Given the description of an element on the screen output the (x, y) to click on. 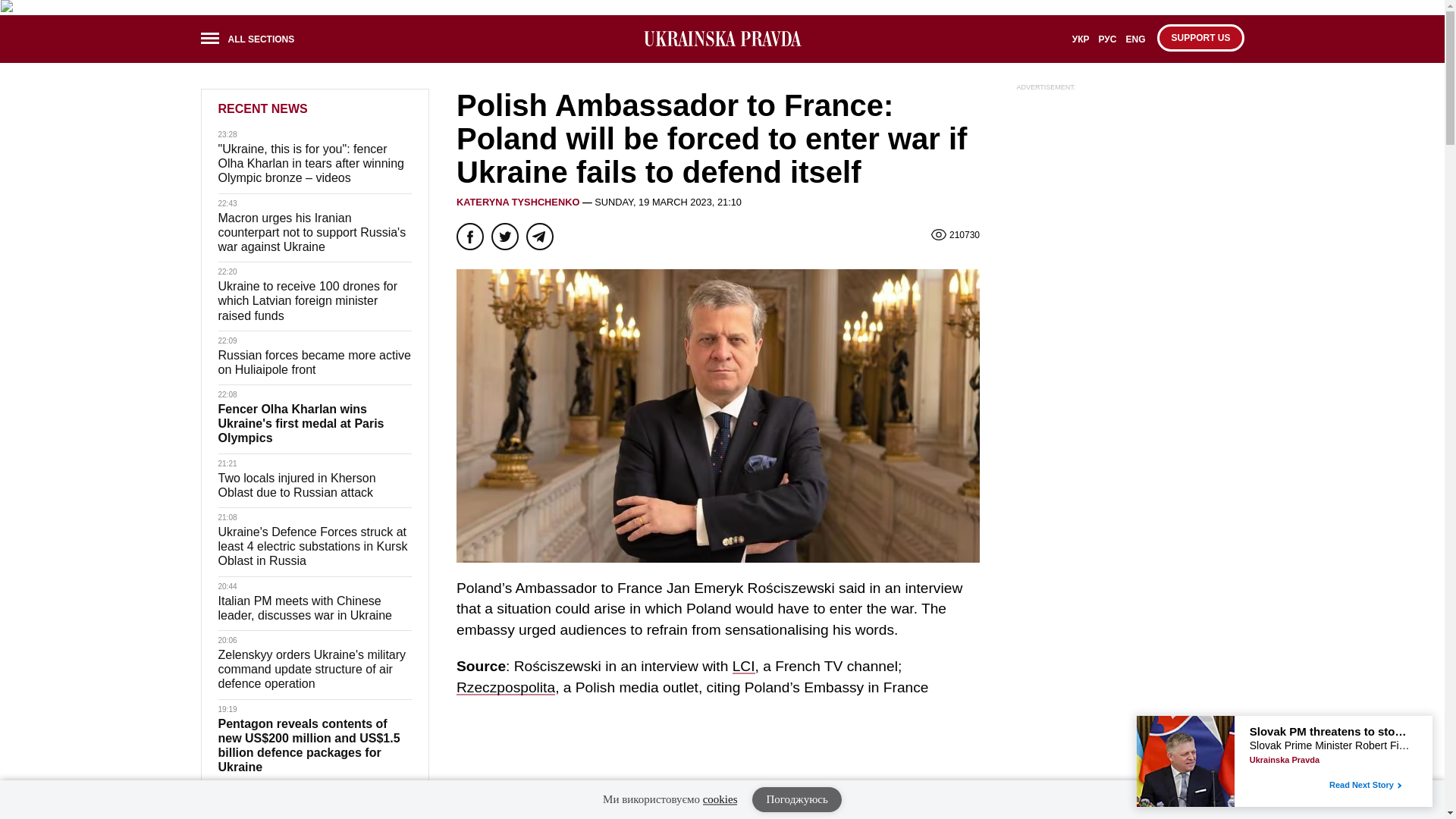
Ukrainska pravda (722, 38)
Rzeczpospolita (505, 687)
KATERYNA TYSHCHENKO (518, 202)
ENG (1135, 43)
SUPPORT US (1200, 37)
ALL SECTIONS (251, 41)
LCI (743, 666)
Ukrainska pravda (722, 40)
